Given the description of an element on the screen output the (x, y) to click on. 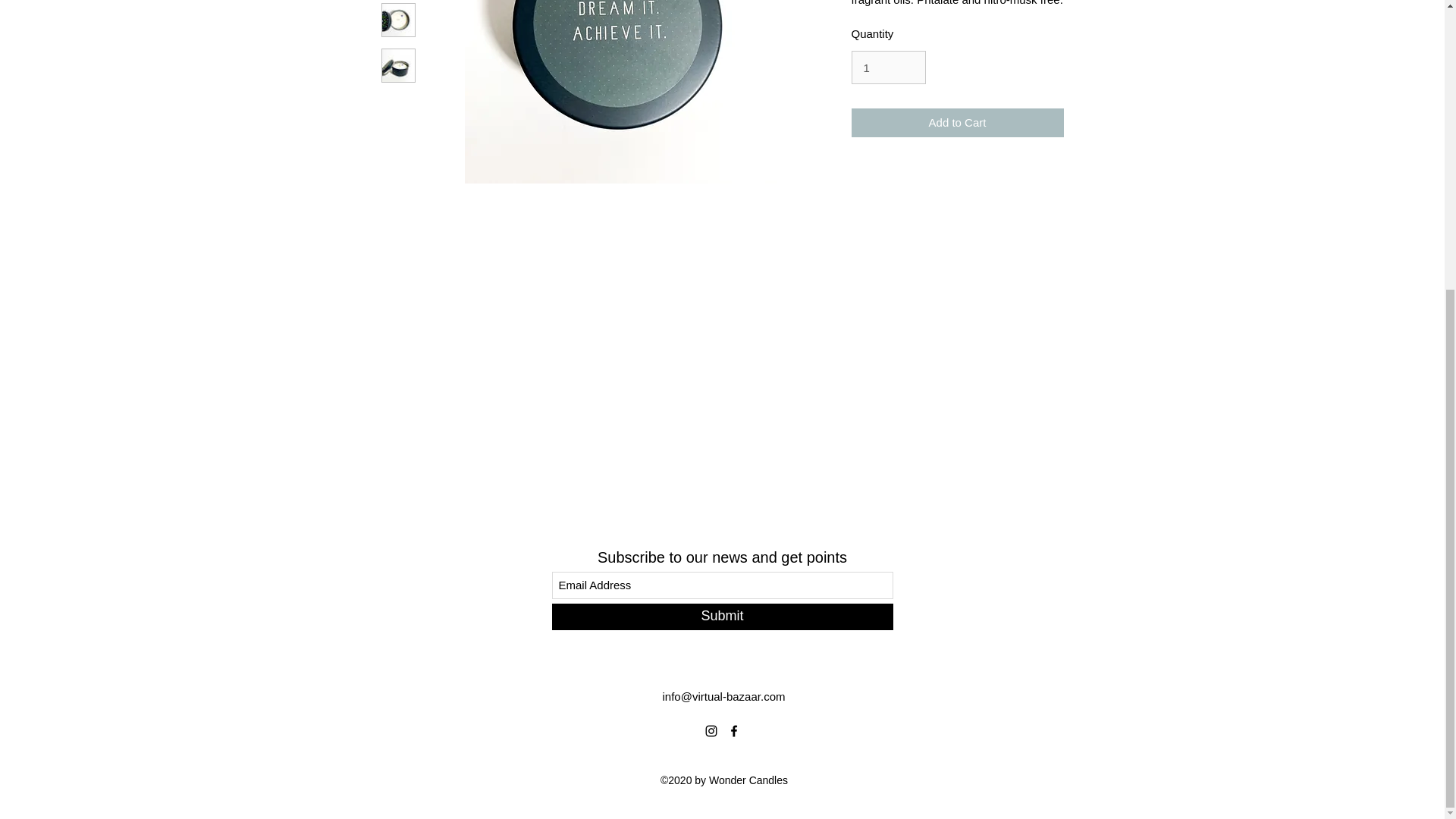
Add to Cart (956, 123)
Submit (722, 616)
1 (887, 67)
